Given the description of an element on the screen output the (x, y) to click on. 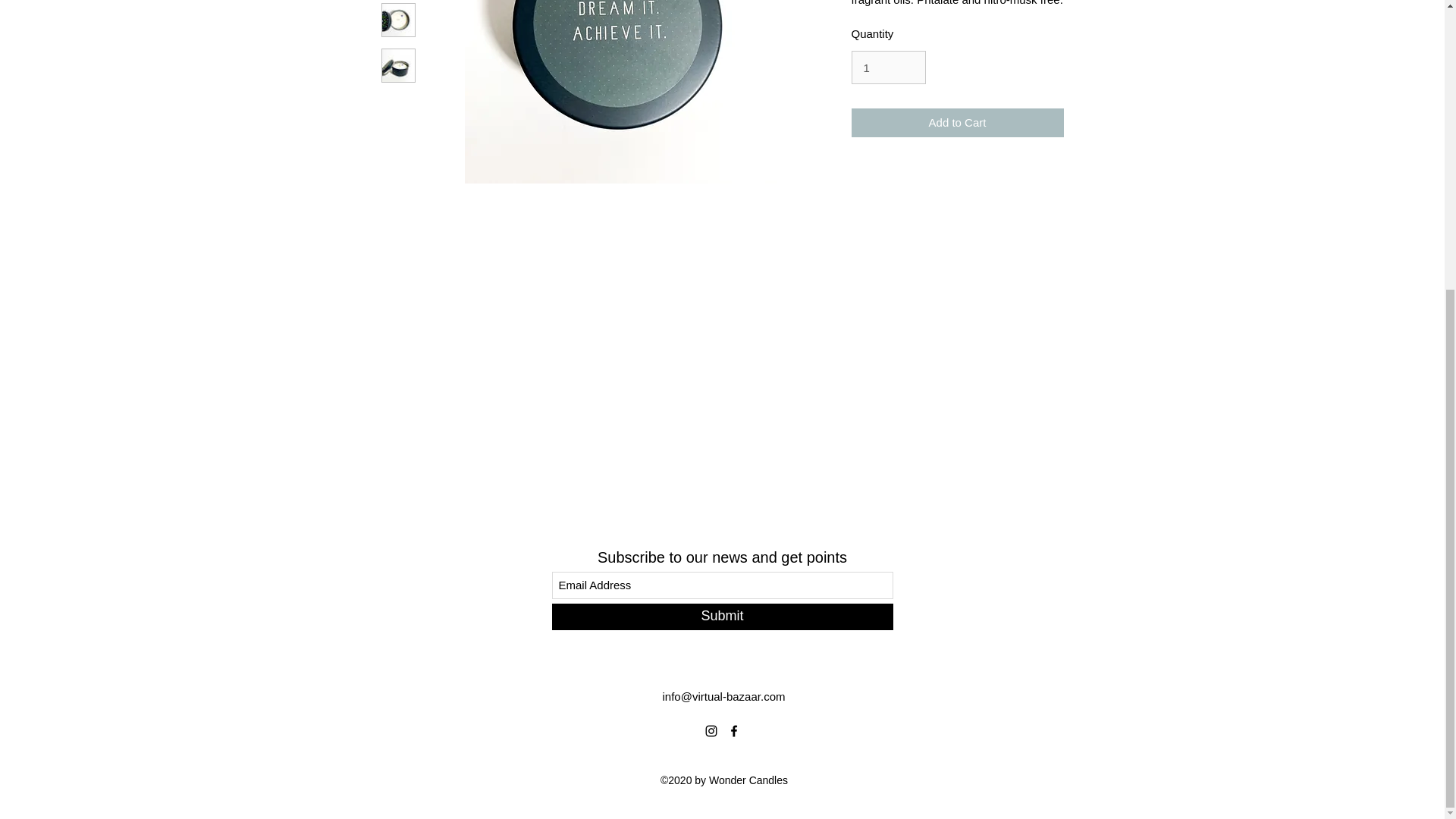
Add to Cart (956, 123)
Submit (722, 616)
1 (887, 67)
